Given the description of an element on the screen output the (x, y) to click on. 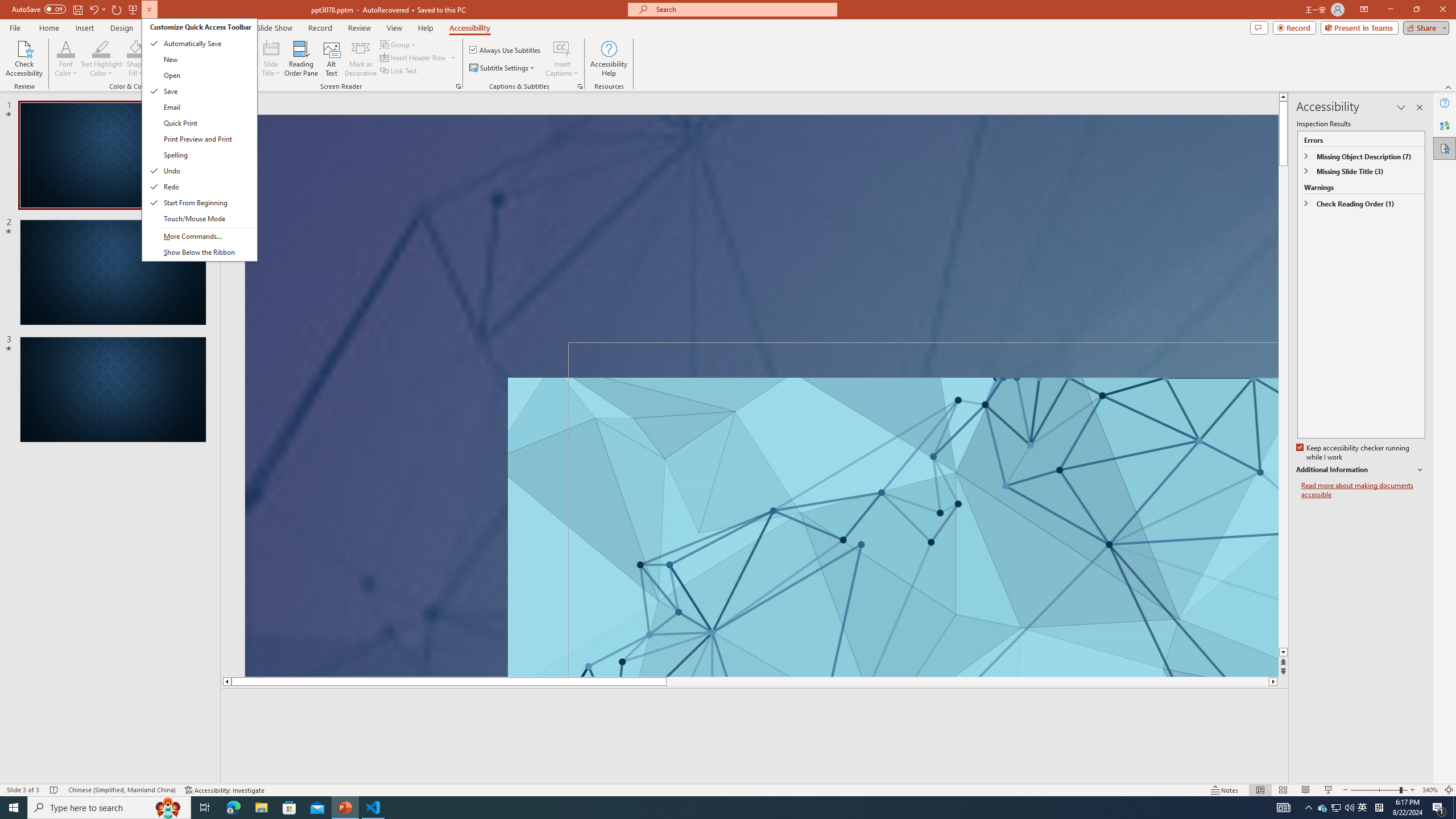
Always Use Subtitles (505, 49)
